Given the description of an element on the screen output the (x, y) to click on. 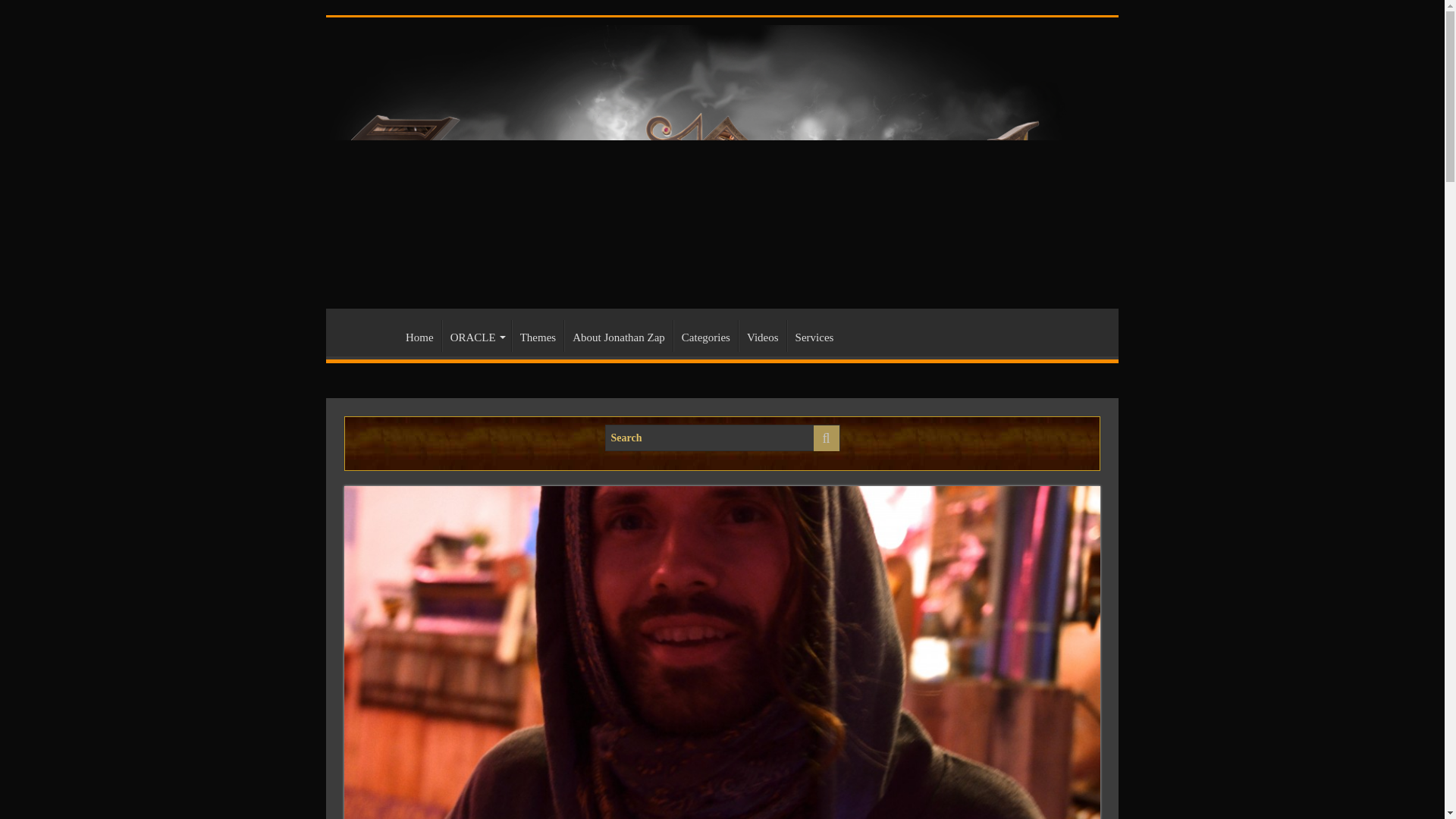
Categories (705, 336)
About Jonathan Zap (618, 336)
Videos (762, 336)
Home (419, 336)
Services (814, 336)
Themes (537, 336)
ORACLE (476, 336)
Search (722, 438)
Search (825, 438)
